Given the description of an element on the screen output the (x, y) to click on. 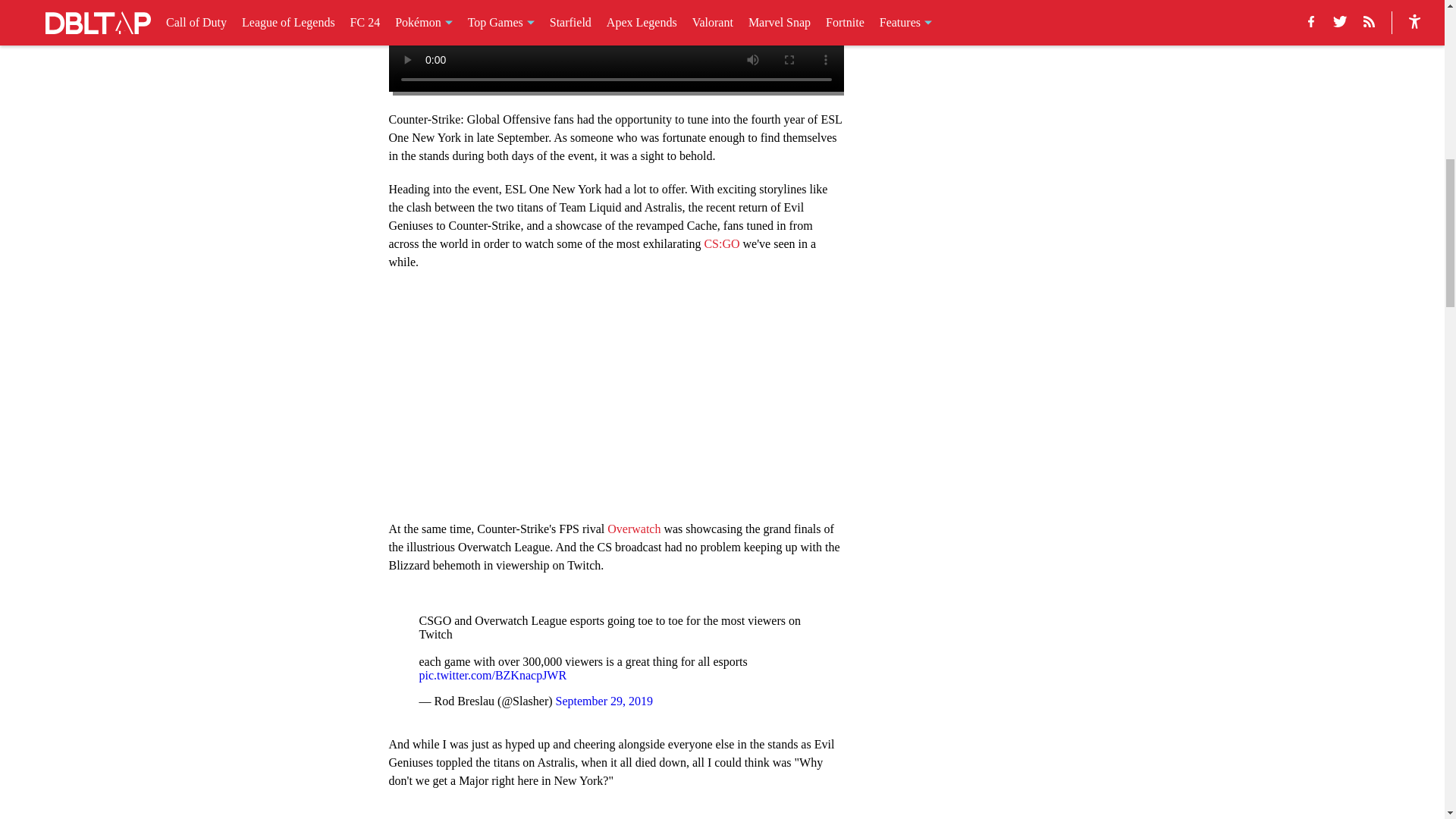
Overwatch (634, 528)
CS:GO (721, 243)
September 29, 2019 (604, 700)
